Given the description of an element on the screen output the (x, y) to click on. 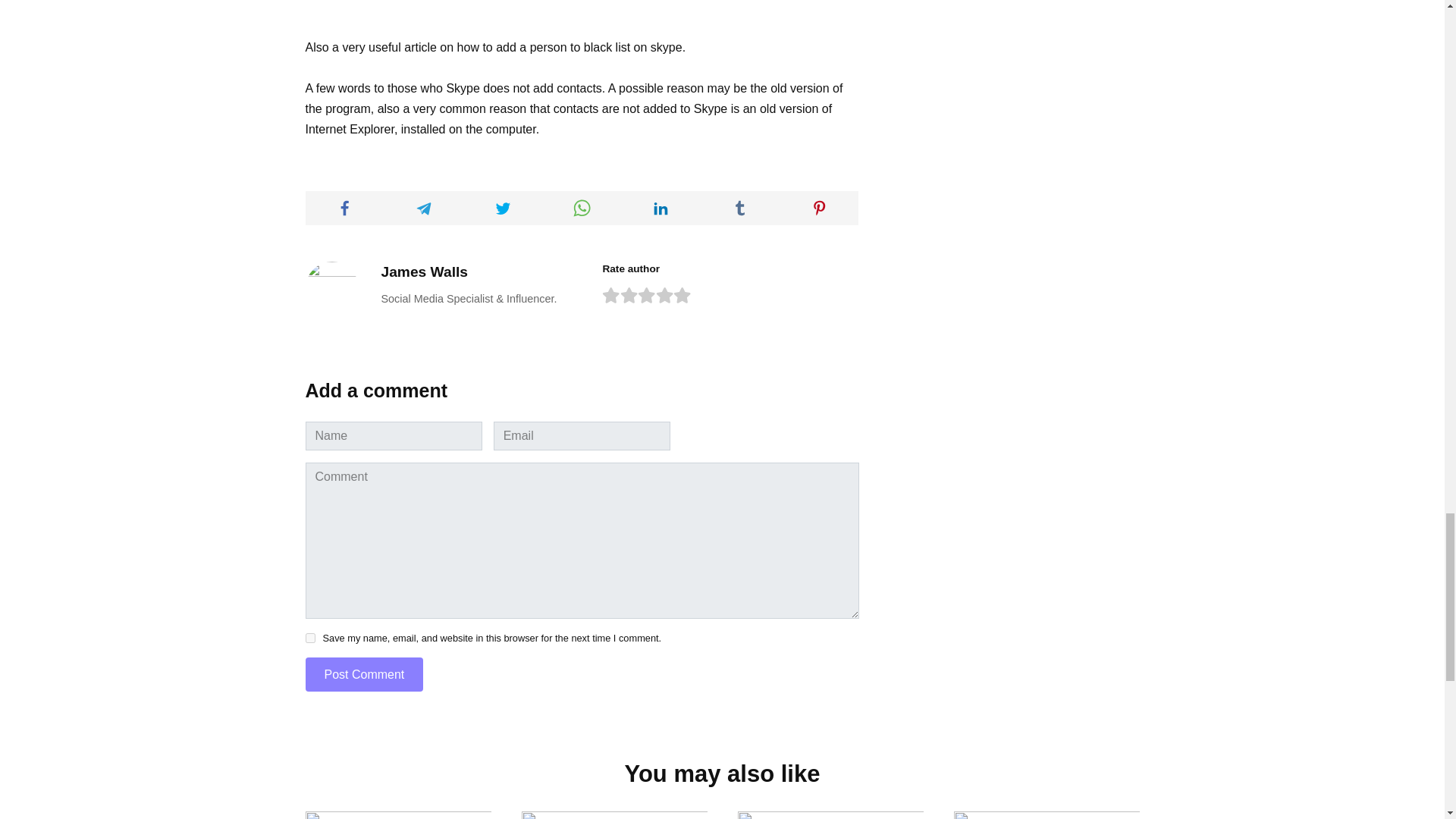
yes (309, 637)
Post Comment (363, 674)
Post Comment (363, 674)
